Given the description of an element on the screen output the (x, y) to click on. 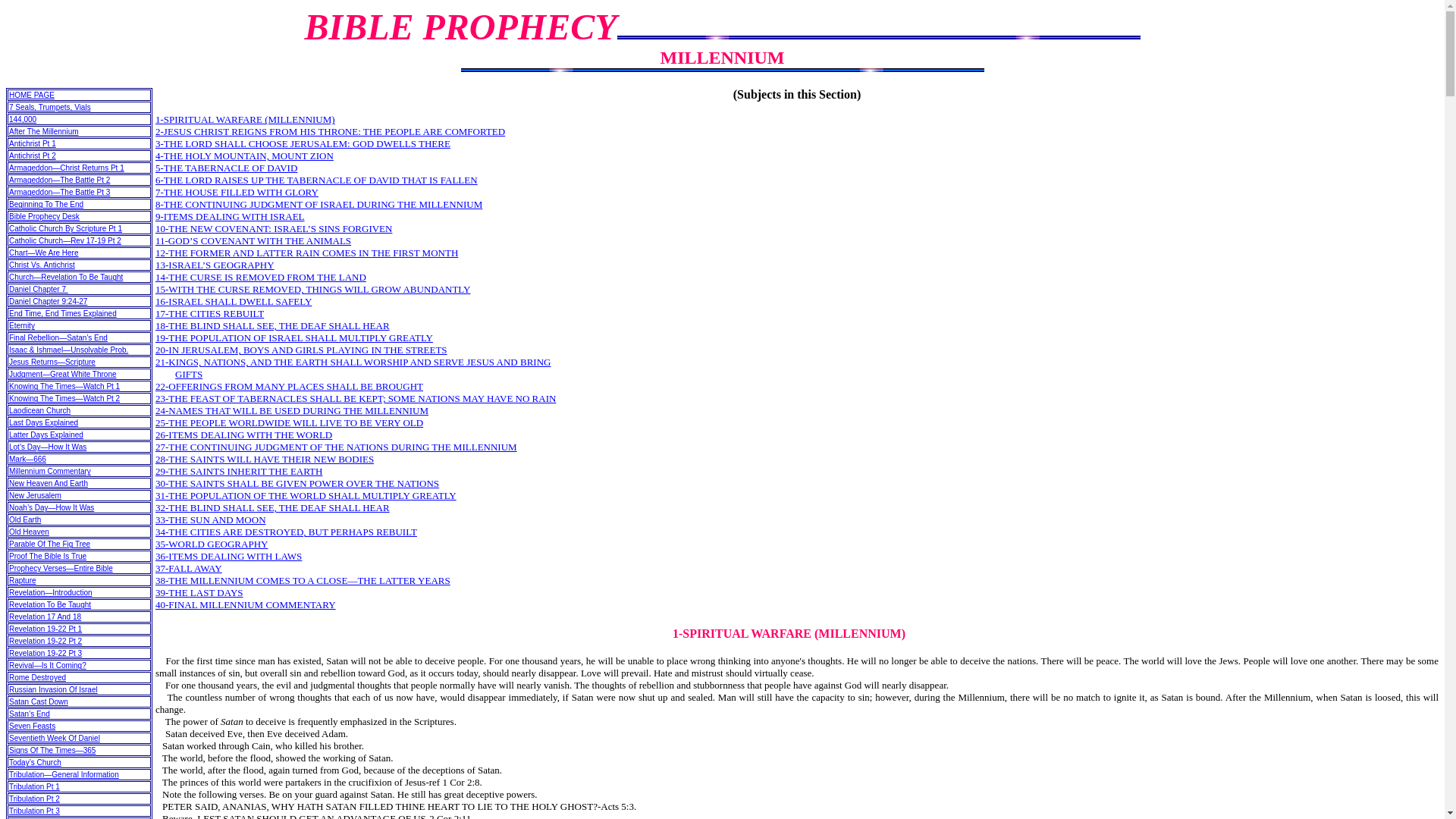
New Jerusalem (34, 495)
Old Heaven (28, 531)
Parable Of The Fig Tree (49, 543)
Catholic Church By Scripture Pt 1 (65, 228)
Daniel Chapter 9:24-27 (47, 301)
7 Seals, Trumpets, Vials (49, 107)
HOME PAGE (31, 94)
Christ Vs. Antichrist (41, 265)
Beginning To The End (45, 203)
Antichrist Pt 2 (32, 155)
Laodicean Church (38, 410)
After The Millennium (43, 131)
End Time, End Times Explained (62, 313)
144,000 (22, 119)
Eternity (21, 325)
